Given the description of an element on the screen output the (x, y) to click on. 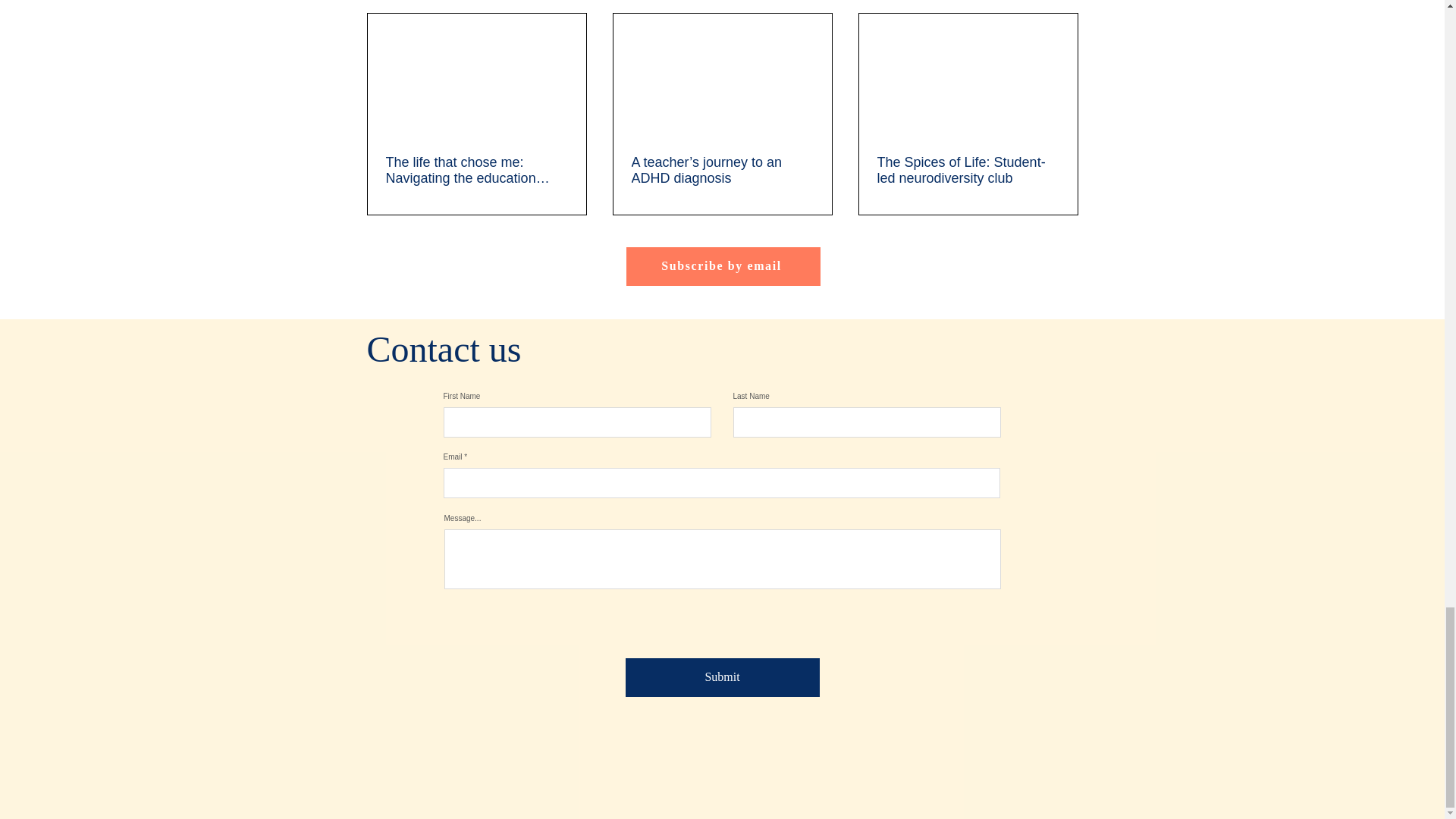
Submit (721, 677)
Subscribe by email (723, 266)
The Spices of Life: Student-led neurodiversity club (967, 170)
